Given the description of an element on the screen output the (x, y) to click on. 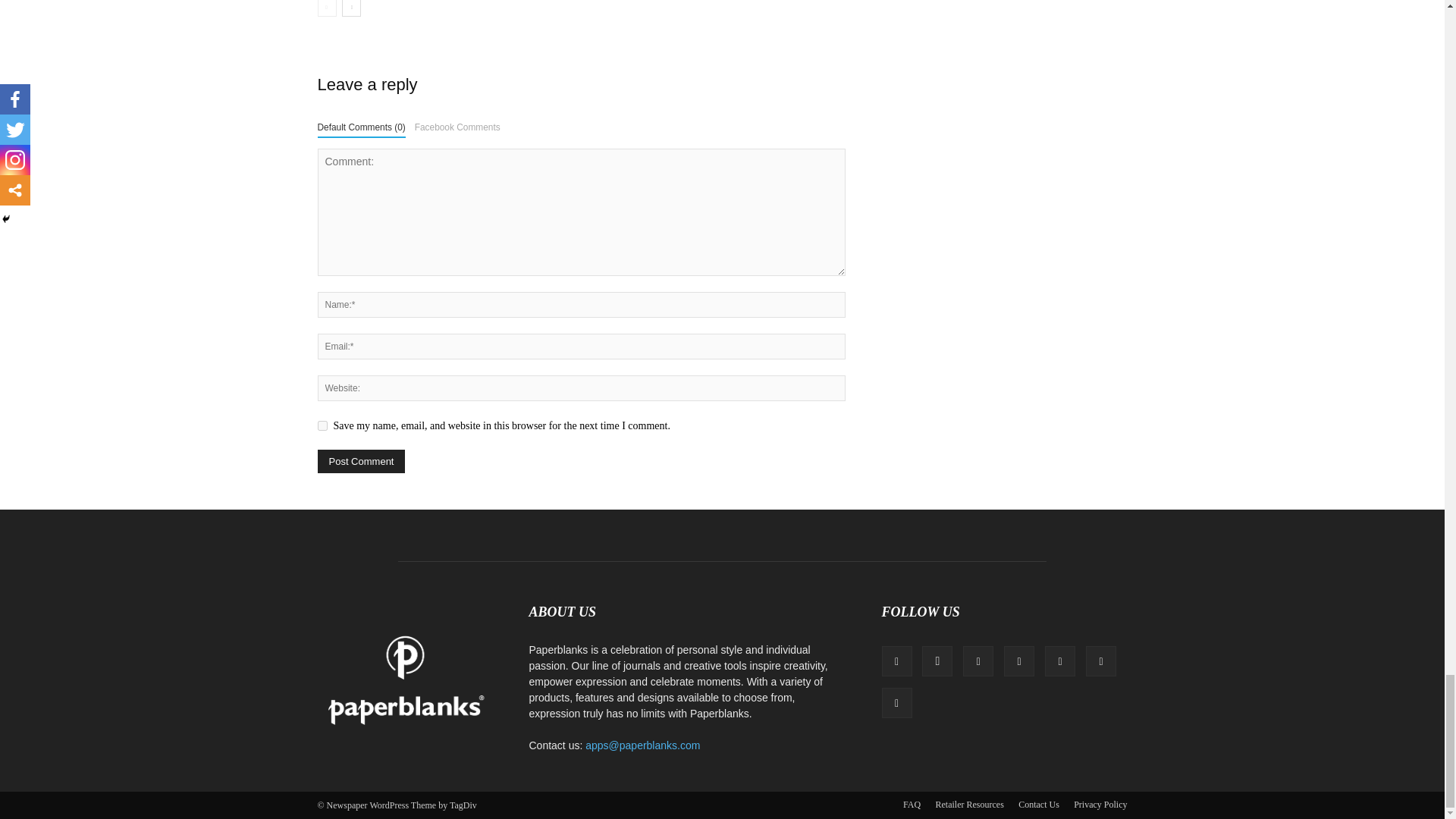
yes (321, 425)
Post Comment (360, 461)
